Given the description of an element on the screen output the (x, y) to click on. 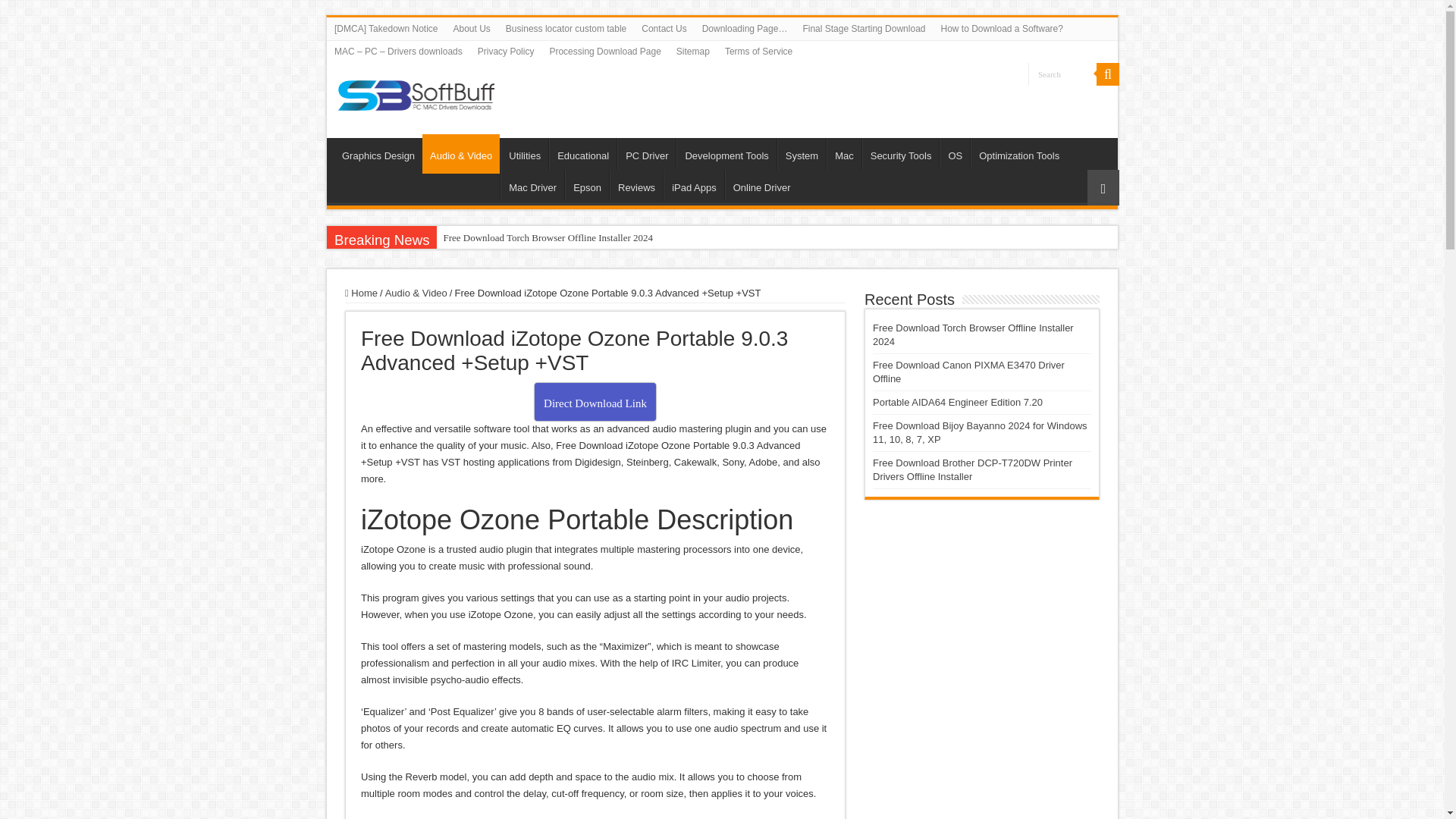
Graphics Design (378, 153)
Search (1061, 74)
Mac (844, 153)
Contact Us (663, 28)
PC Driver (646, 153)
SoftBuff (416, 92)
Privacy Policy (505, 51)
Terms of Service (758, 51)
How to Download a Software? (1001, 28)
Free Download Torch Browser Offline Installer 2024 (547, 238)
